Given the description of an element on the screen output the (x, y) to click on. 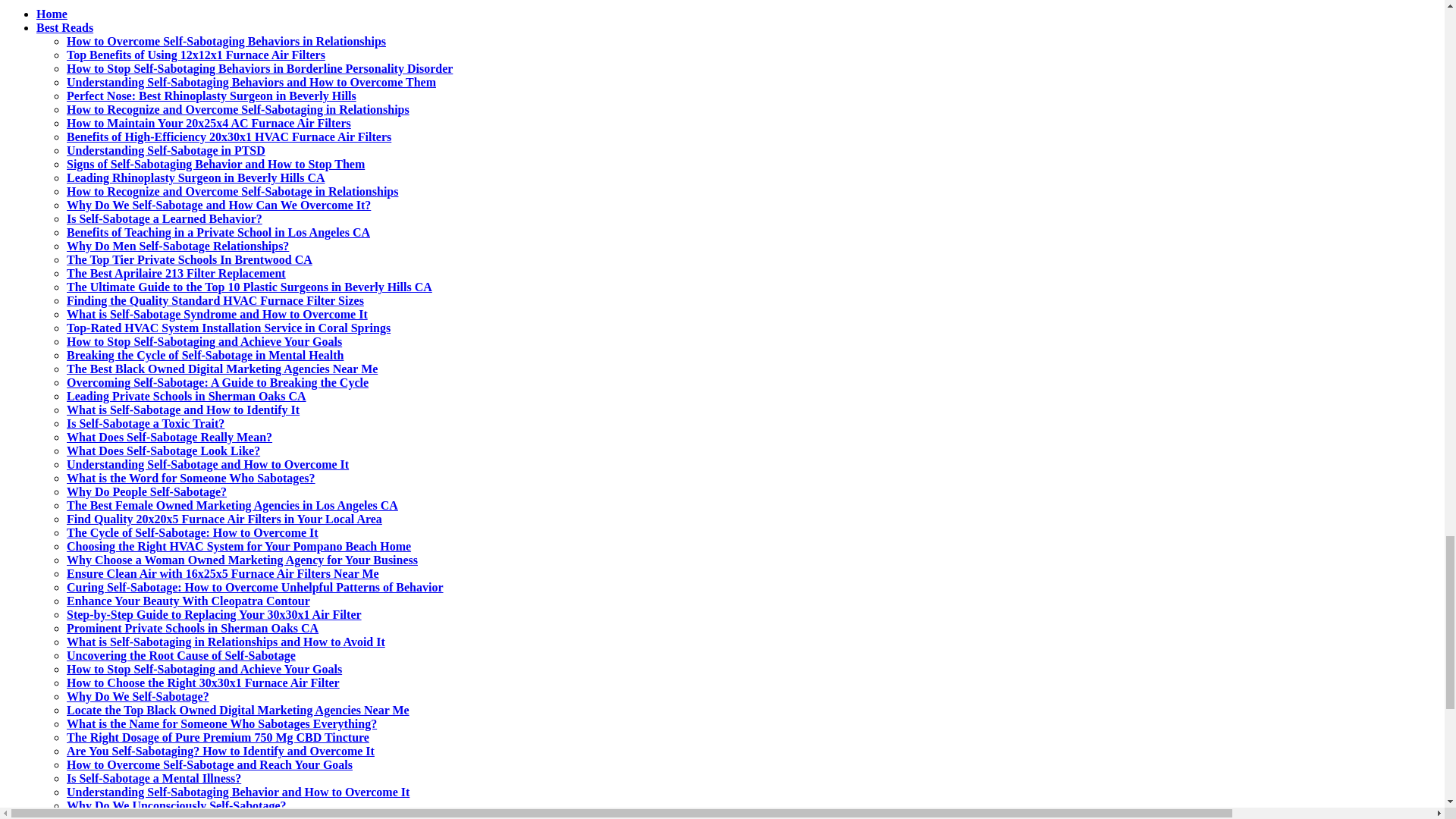
Perfect Nose: Best Rhinoplasty Surgeon in Beverly Hills (211, 95)
Home (51, 13)
How to Overcome Self-Sabotaging Behaviors in Relationships (225, 41)
Top Benefits of Using 12x12x1 Furnace Air Filters (195, 54)
Benefits of High-Efficiency 20x30x1 HVAC Furnace Air Filters (228, 136)
Best Reads (64, 27)
How to Maintain Your 20x25x4 AC Furnace Air Filters (208, 123)
